Given the description of an element on the screen output the (x, y) to click on. 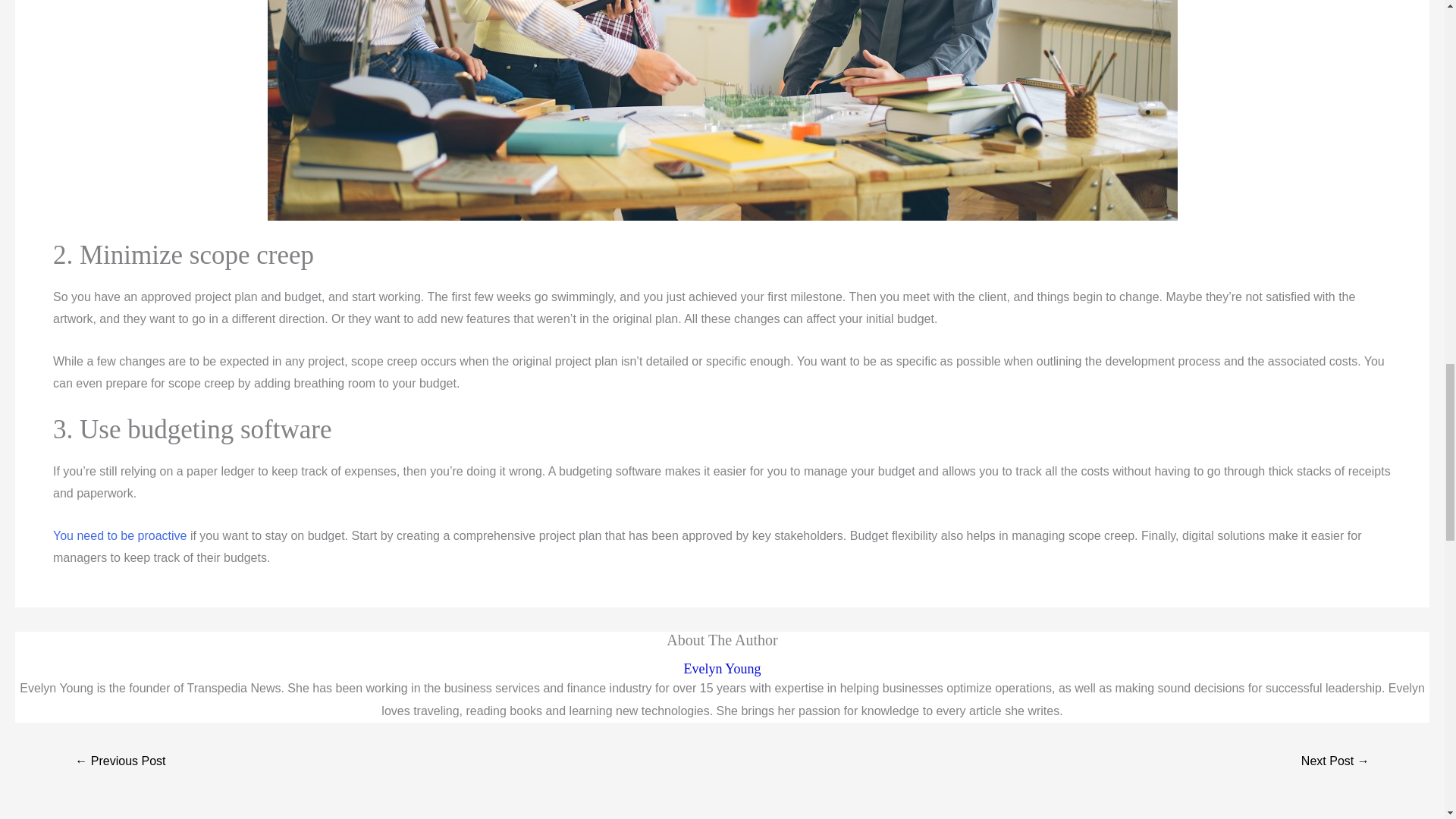
Evelyn Young (721, 668)
Why You Should Have a Website for Your Law Firm (1334, 762)
You need to be proactive (119, 535)
CIO (119, 535)
